Given the description of an element on the screen output the (x, y) to click on. 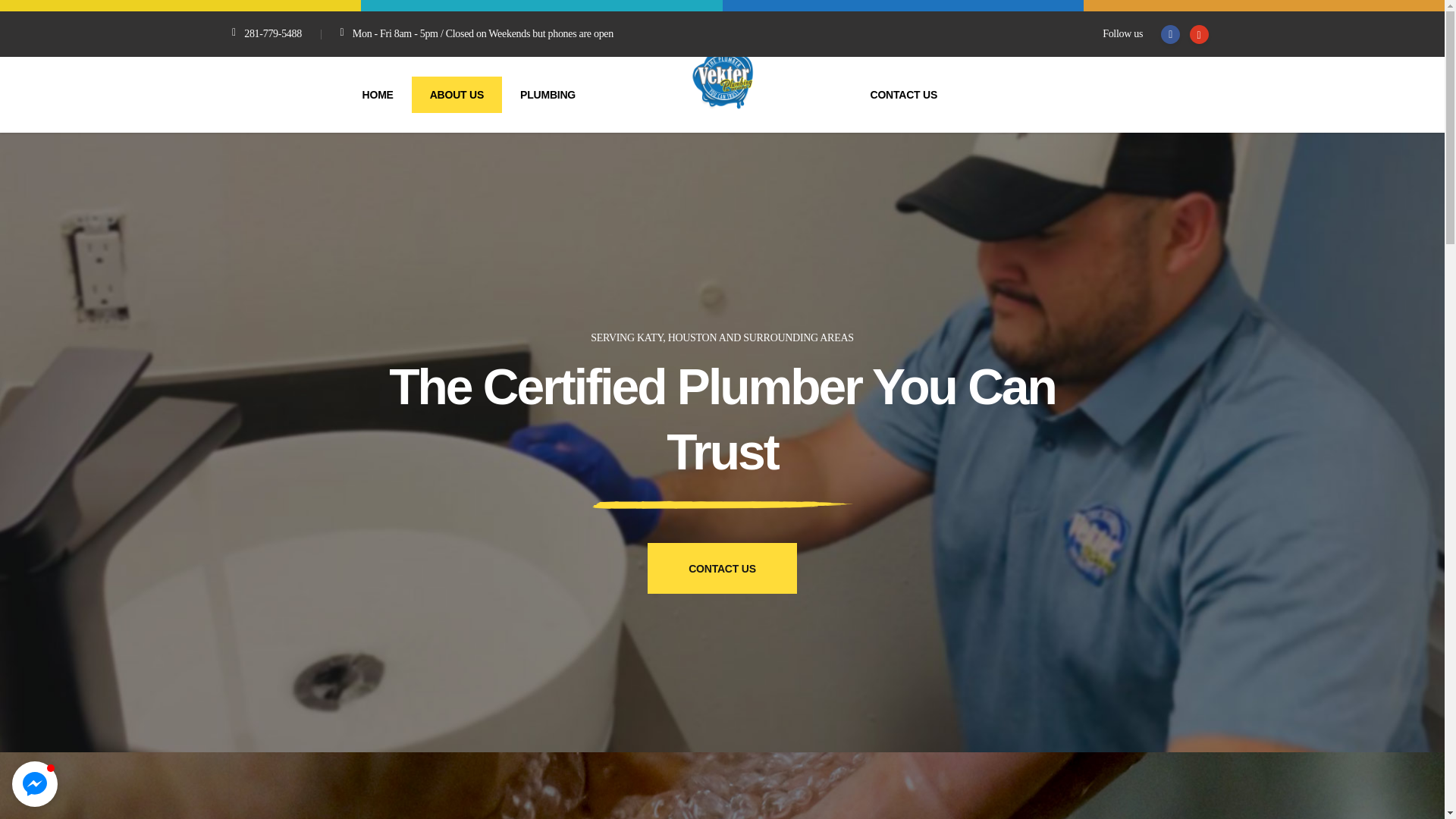
PLUMBING (548, 94)
ABOUT US (457, 94)
CONTACT US (903, 94)
HOME (377, 94)
